Given the description of an element on the screen output the (x, y) to click on. 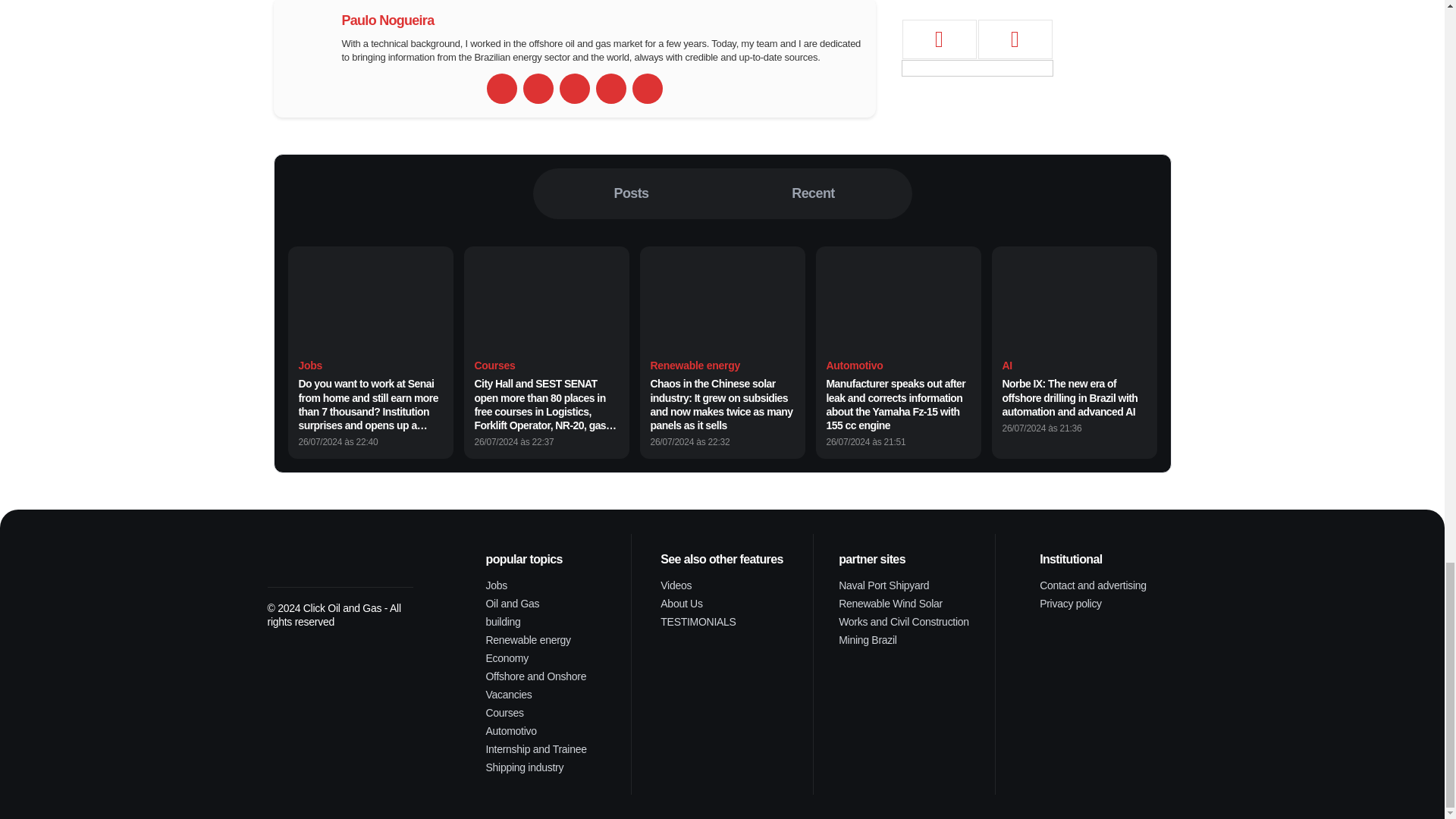
Instagram (646, 88)
Twitter (574, 88)
linkedin (610, 88)
Facebook (537, 88)
url (501, 88)
